Given the description of an element on the screen output the (x, y) to click on. 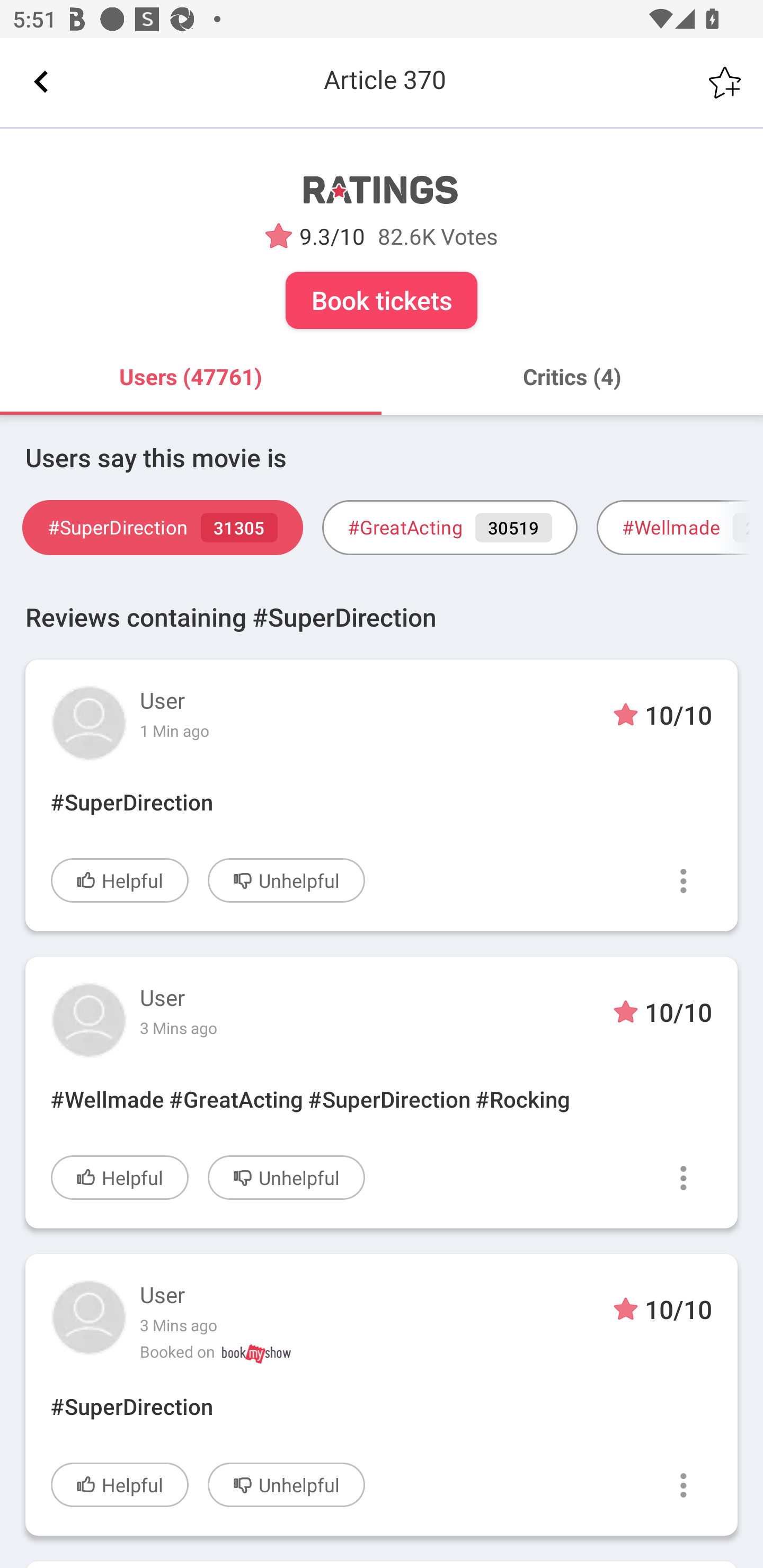
Back (41, 82)
Book tickets (381, 299)
Critics (4) (572, 376)
#SuperDirection 31305 (162, 527)
#GreatActing 30519 (449, 527)
#Wellmade 26434 (679, 527)
Helpful (119, 880)
Unhelpful (285, 880)
Helpful (119, 1177)
Unhelpful (285, 1177)
Helpful (119, 1484)
Unhelpful (285, 1484)
